Given the description of an element on the screen output the (x, y) to click on. 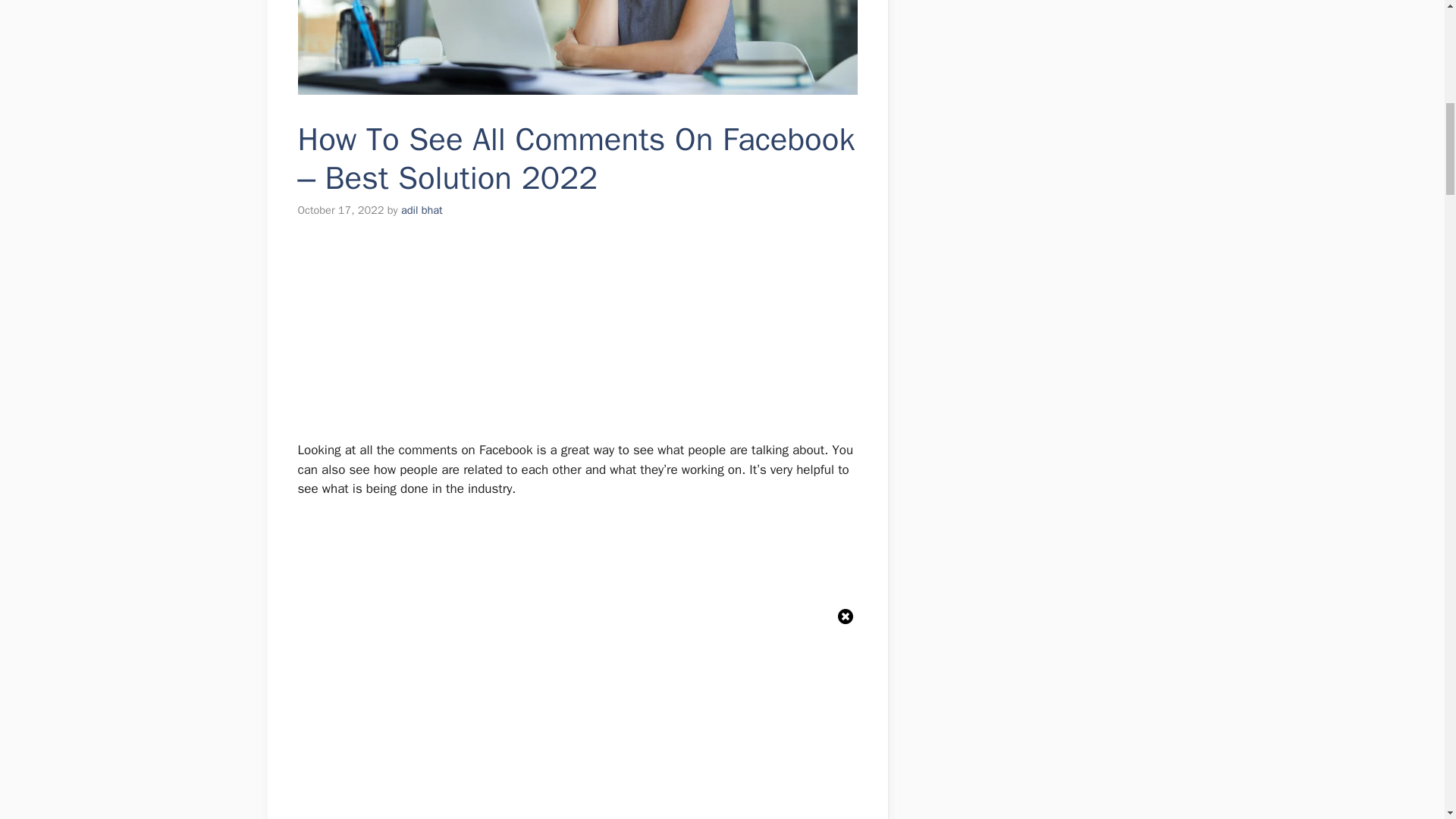
View all posts by adil bhat (421, 210)
adil bhat (421, 210)
